Given the description of an element on the screen output the (x, y) to click on. 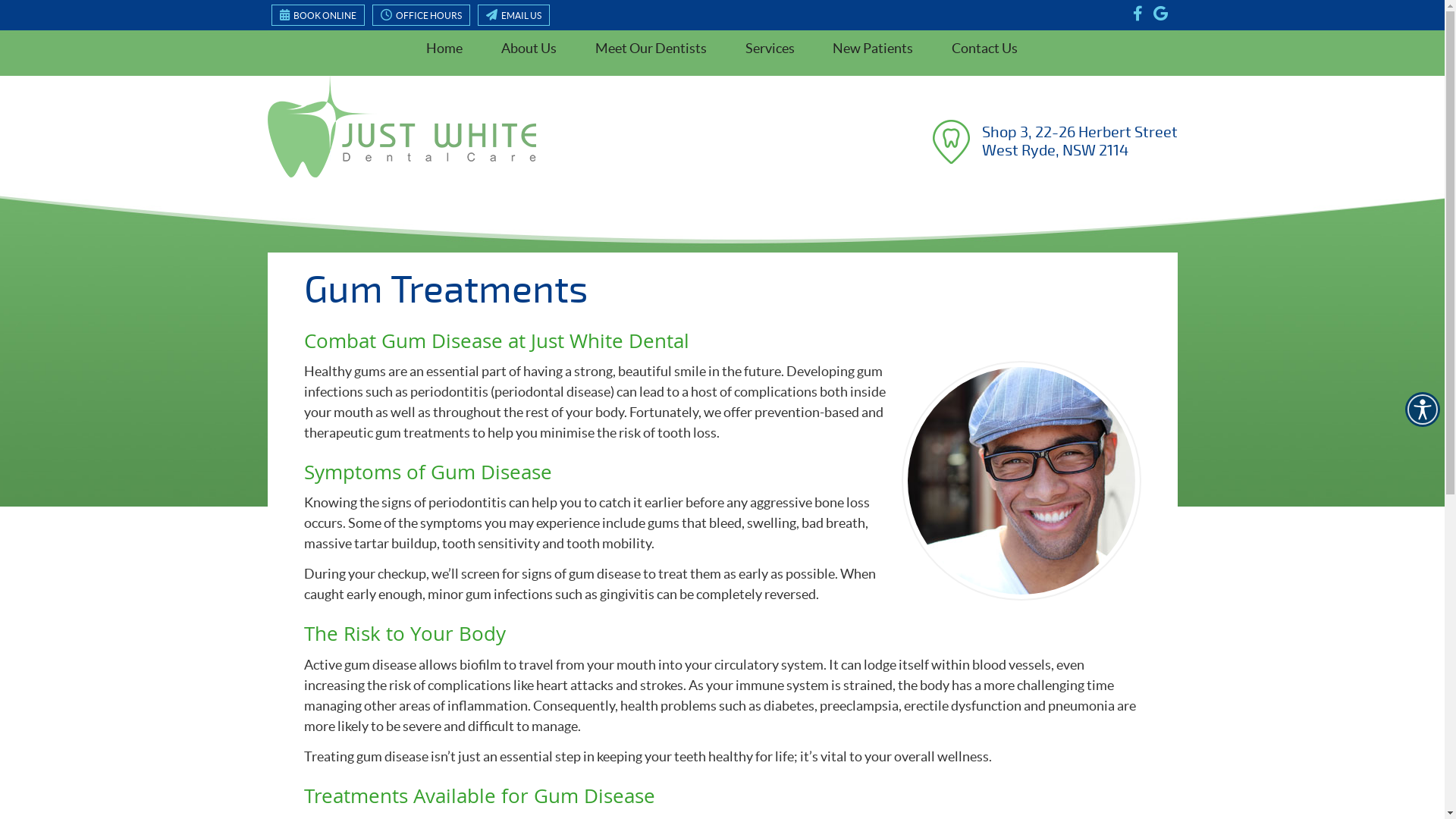
OFFICE HOURS Element type: text (420, 14)
Just White Dental Element type: text (400, 172)
Facebook Social Button Element type: text (1138, 15)
Services Element type: text (769, 48)
Home Element type: text (444, 48)
Google Social Button Element type: text (1161, 15)
About Us Element type: text (529, 48)
Contact Us Element type: text (984, 48)
New Patients Element type: text (872, 48)
Meet Our Dentists Element type: text (651, 48)
EMAIL US Element type: text (513, 14)
BOOK ONLINE Element type: text (317, 14)
